Given the description of an element on the screen output the (x, y) to click on. 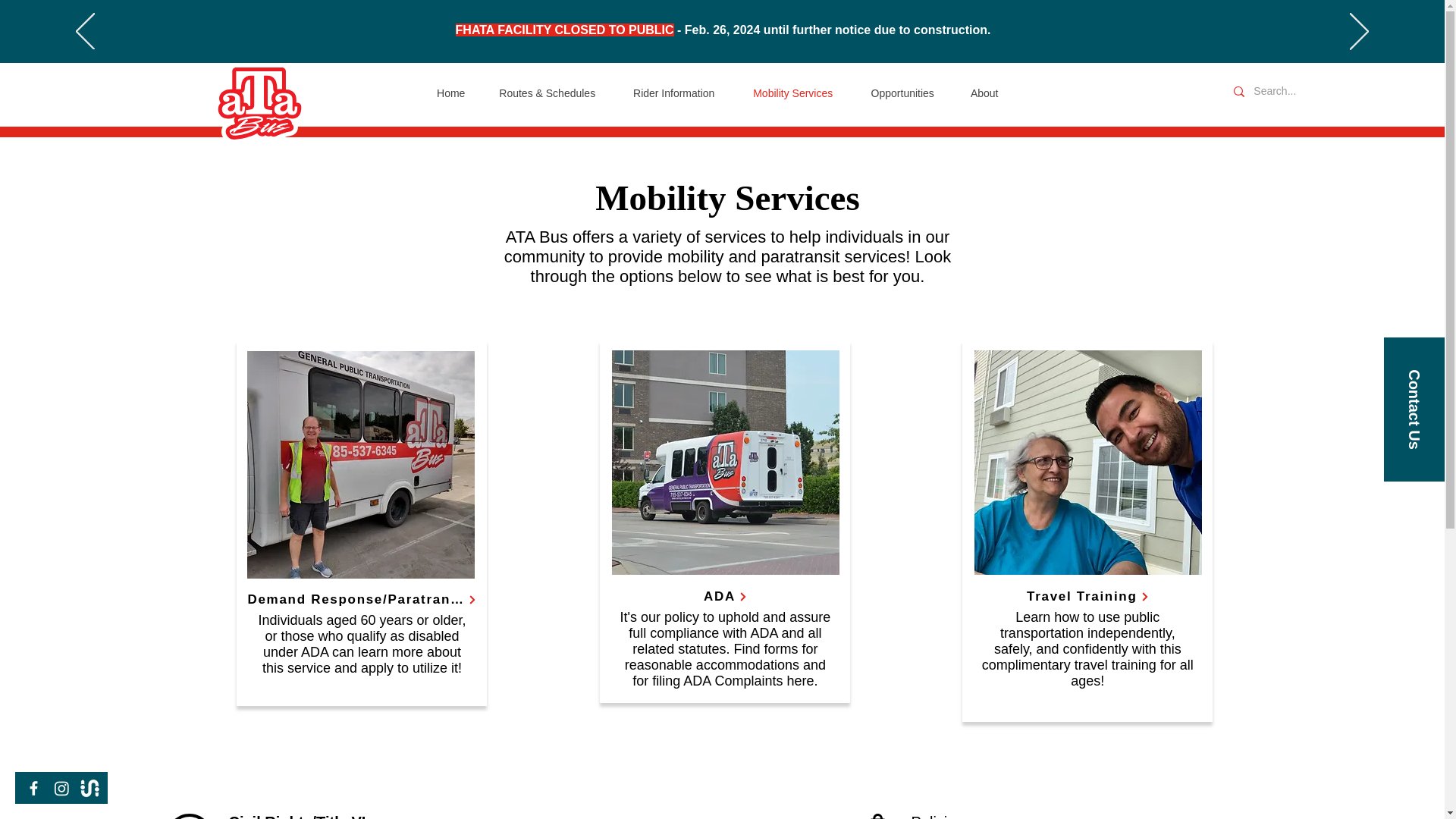
Home (450, 93)
Mobility Services (793, 93)
About (983, 93)
Opportunities (902, 93)
Rider Information (673, 93)
